Given the description of an element on the screen output the (x, y) to click on. 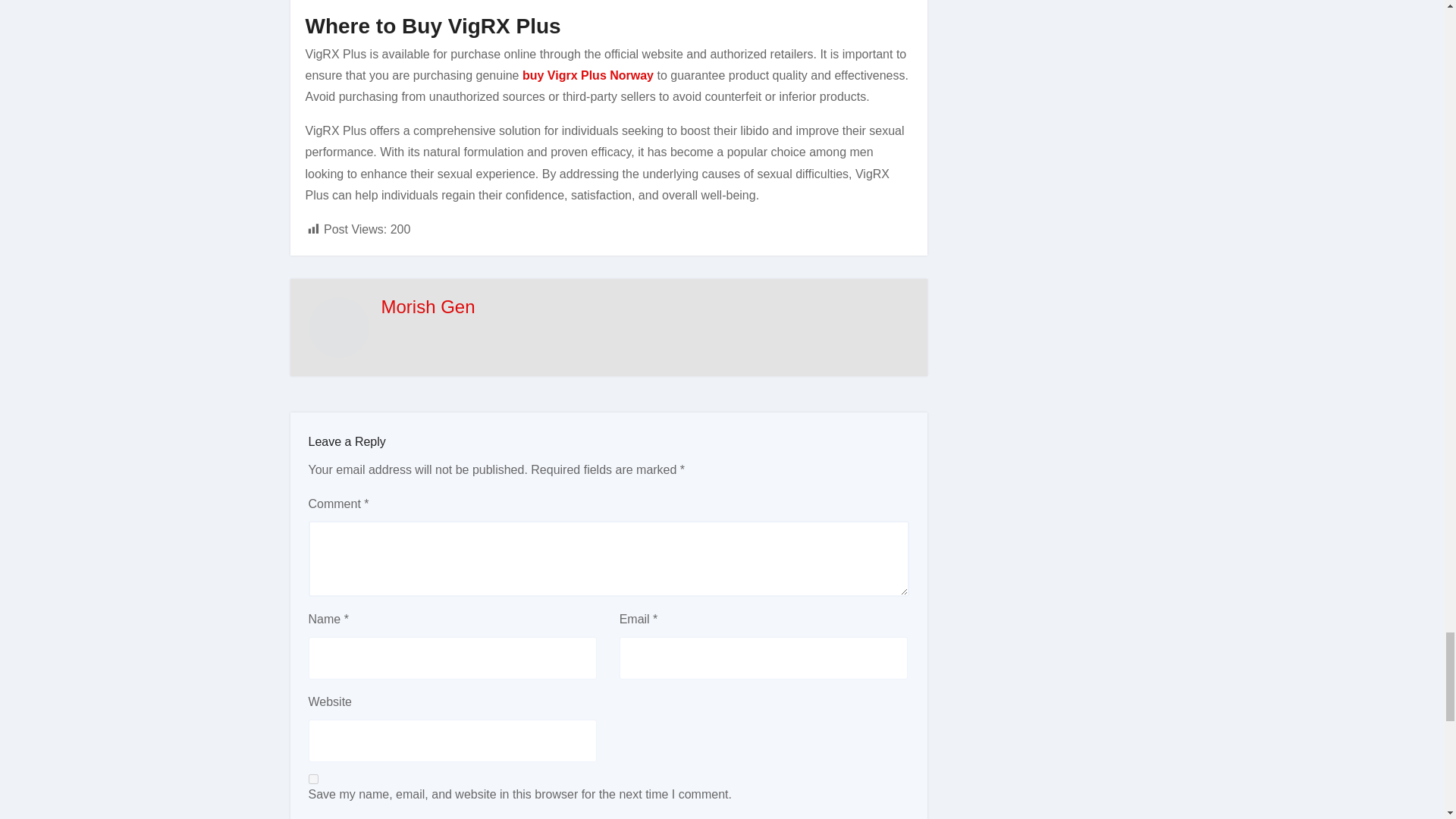
yes (312, 778)
